Given the description of an element on the screen output the (x, y) to click on. 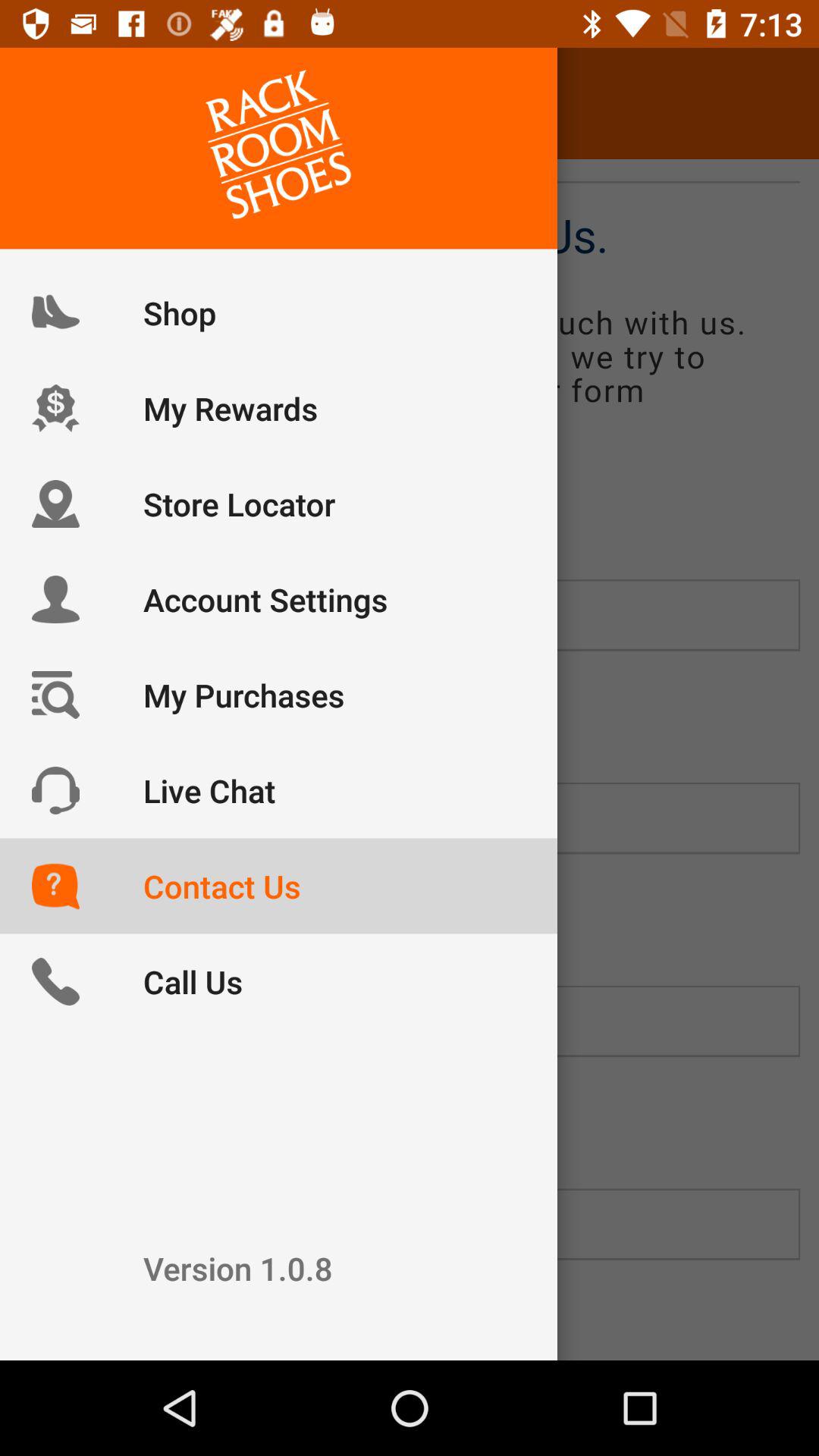
choose icon next to the contact us item (55, 103)
